Given the description of an element on the screen output the (x, y) to click on. 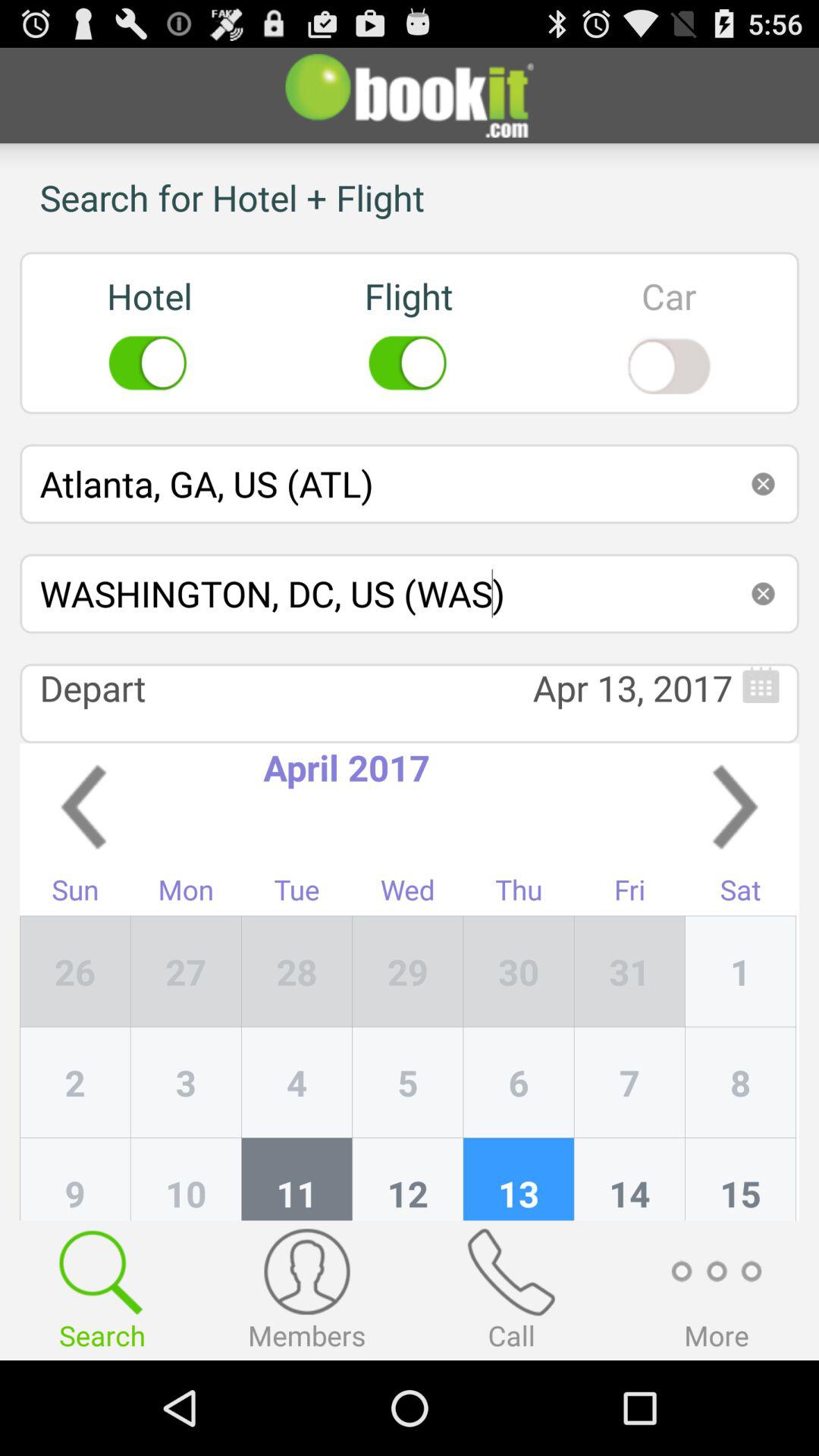
choose app to the left of the sat icon (629, 971)
